Given the description of an element on the screen output the (x, y) to click on. 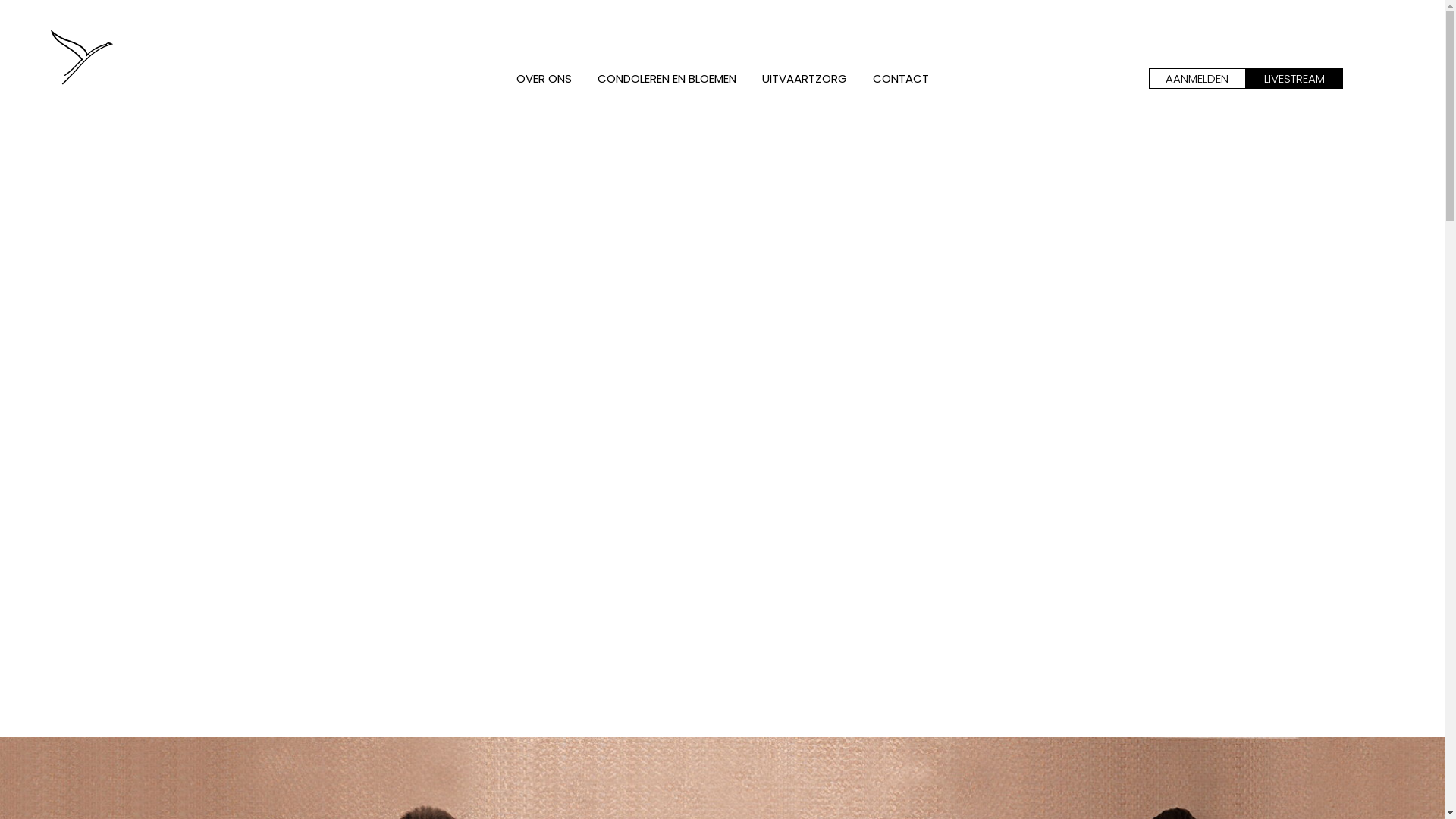
0 Element type: text (121, 67)
LIVESTREAM Element type: text (1294, 78)
UITVAARTZORG Element type: text (804, 78)
OVER ONS Element type: text (544, 78)
CONTACT Element type: text (900, 78)
AANMELDEN Element type: text (1197, 78)
CONDOLEREN EN BLOEMEN Element type: text (665, 78)
